Given the description of an element on the screen output the (x, y) to click on. 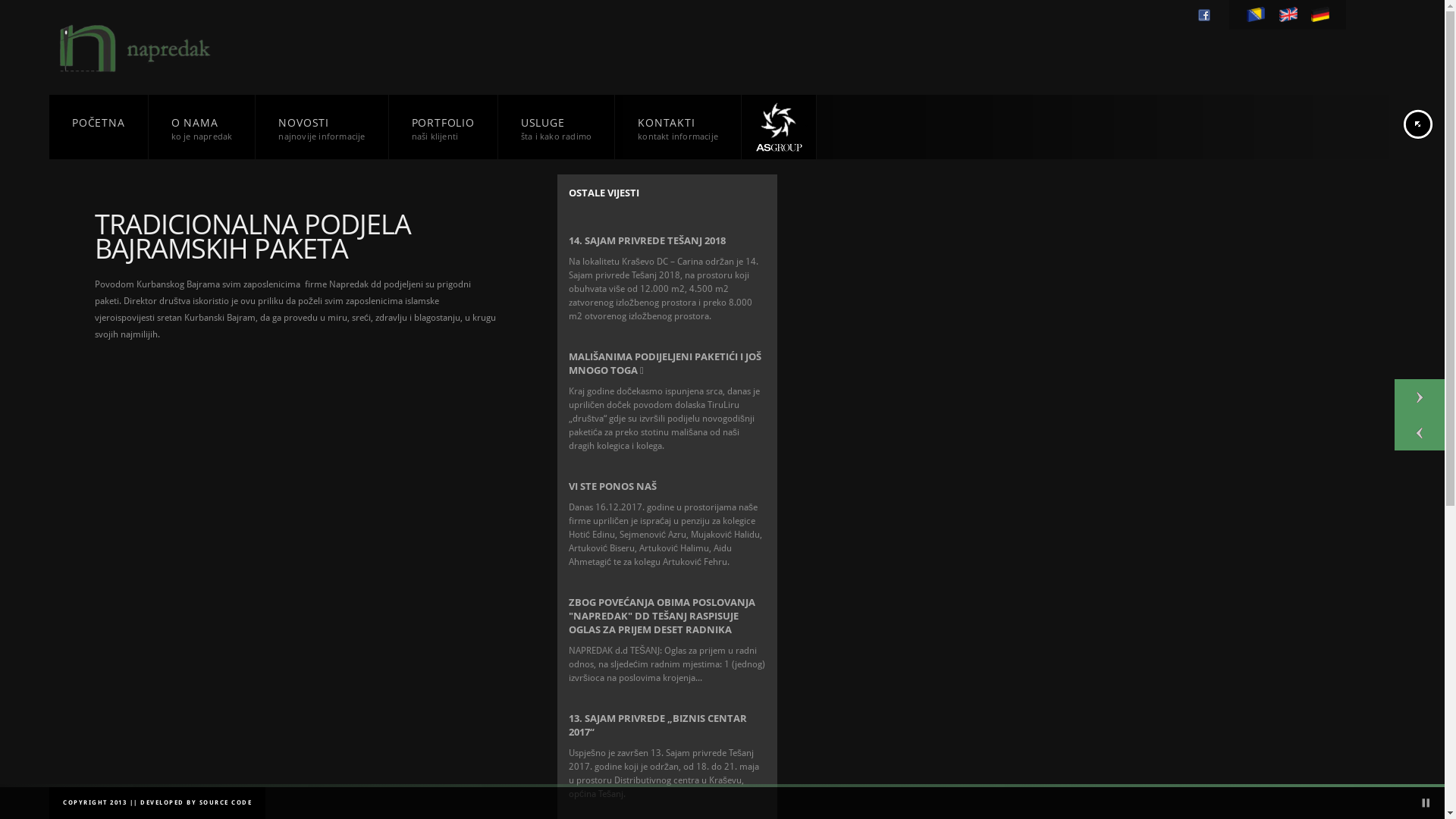
NOVOSTI
najnovije informacije Element type: text (321, 133)
KONTAKTI
kontakt informacije Element type: text (678, 133)
SOURCE CODE Element type: text (224, 802)
